Given the description of an element on the screen output the (x, y) to click on. 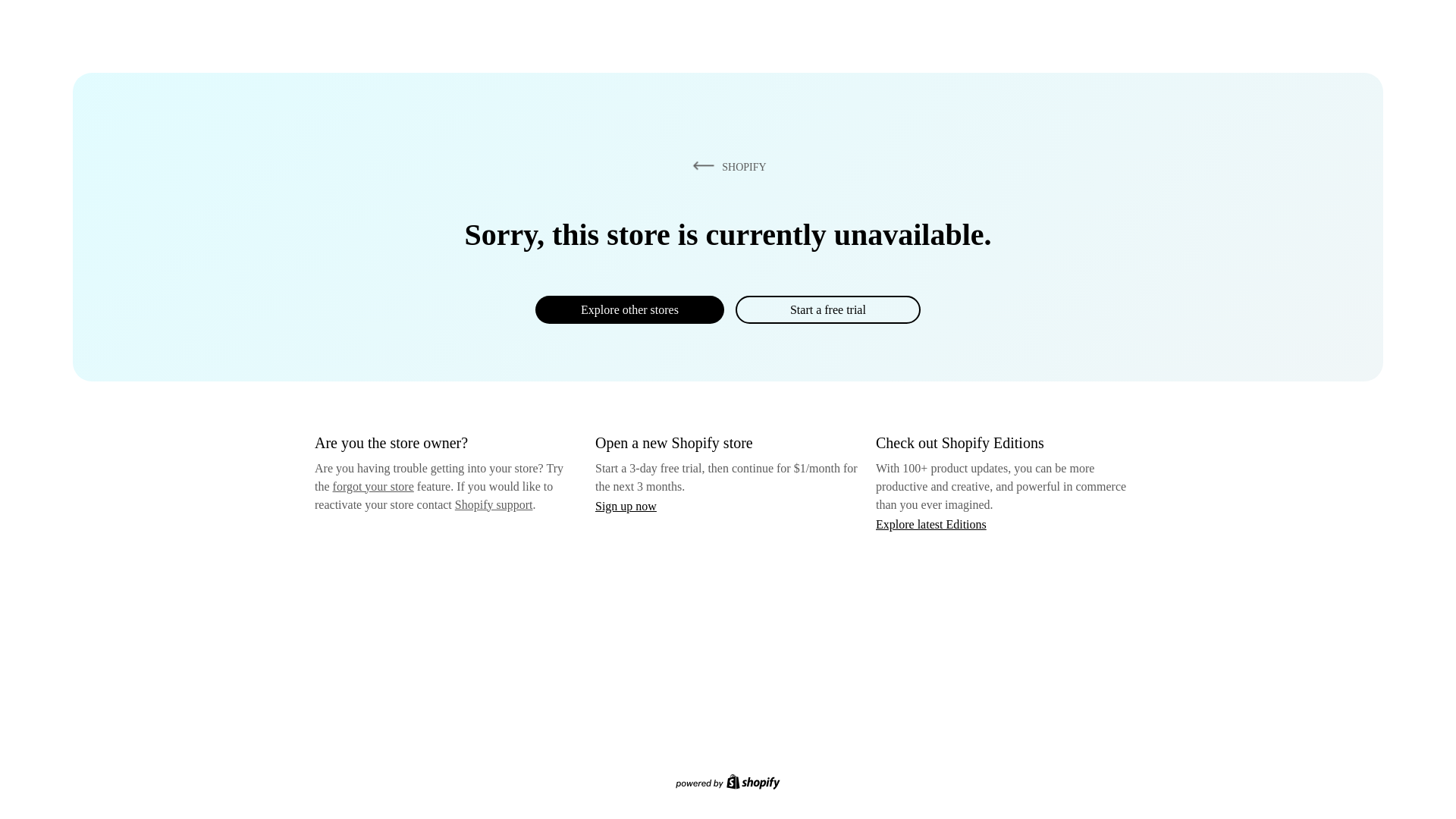
Shopify support (493, 504)
Sign up now (625, 505)
forgot your store (373, 486)
Explore latest Editions (931, 523)
Start a free trial (827, 309)
SHOPIFY (726, 166)
Explore other stores (629, 309)
